Given the description of an element on the screen output the (x, y) to click on. 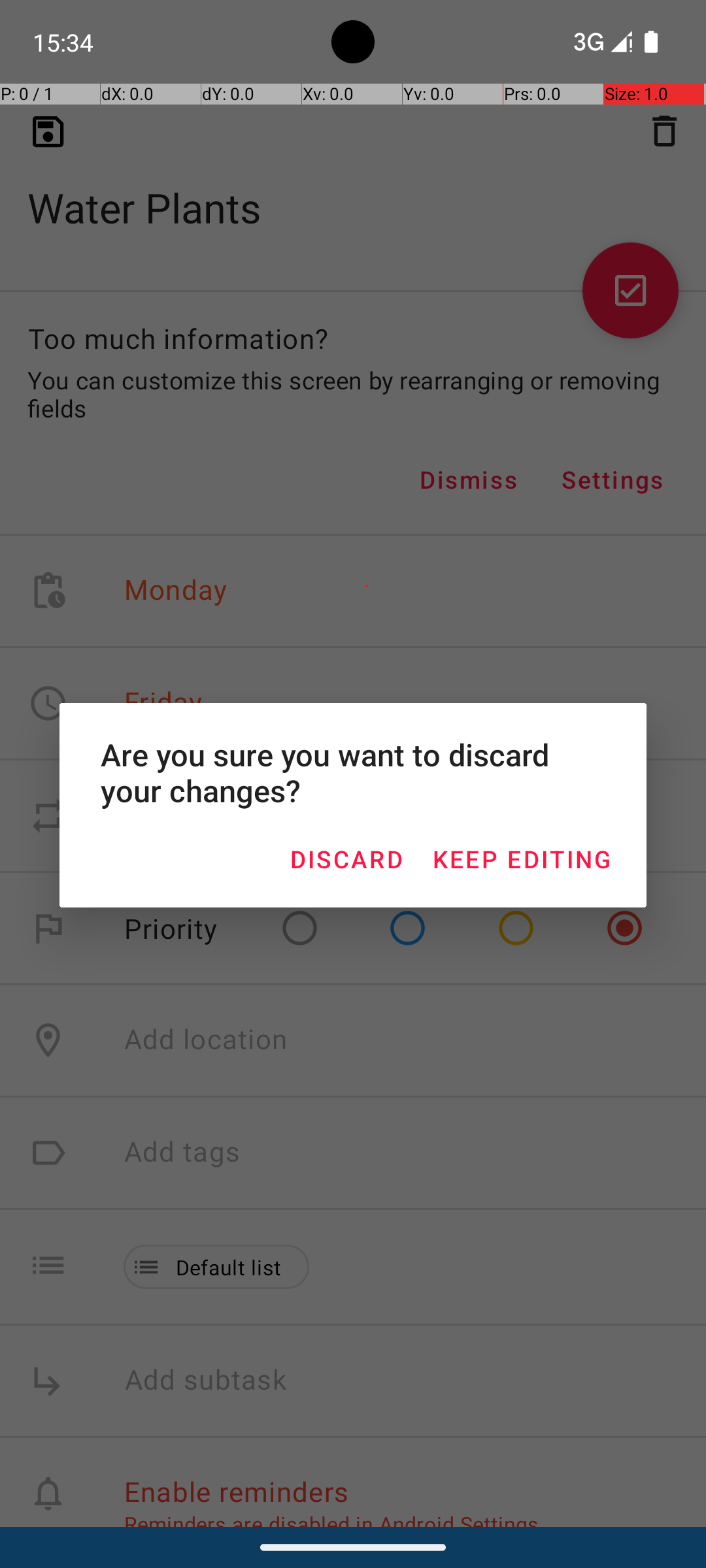
Are you sure you want to discard your changes? Element type: android.widget.TextView (352, 771)
DISCARD Element type: android.widget.Button (345, 858)
KEEP EDITING Element type: android.widget.Button (521, 858)
